Given the description of an element on the screen output the (x, y) to click on. 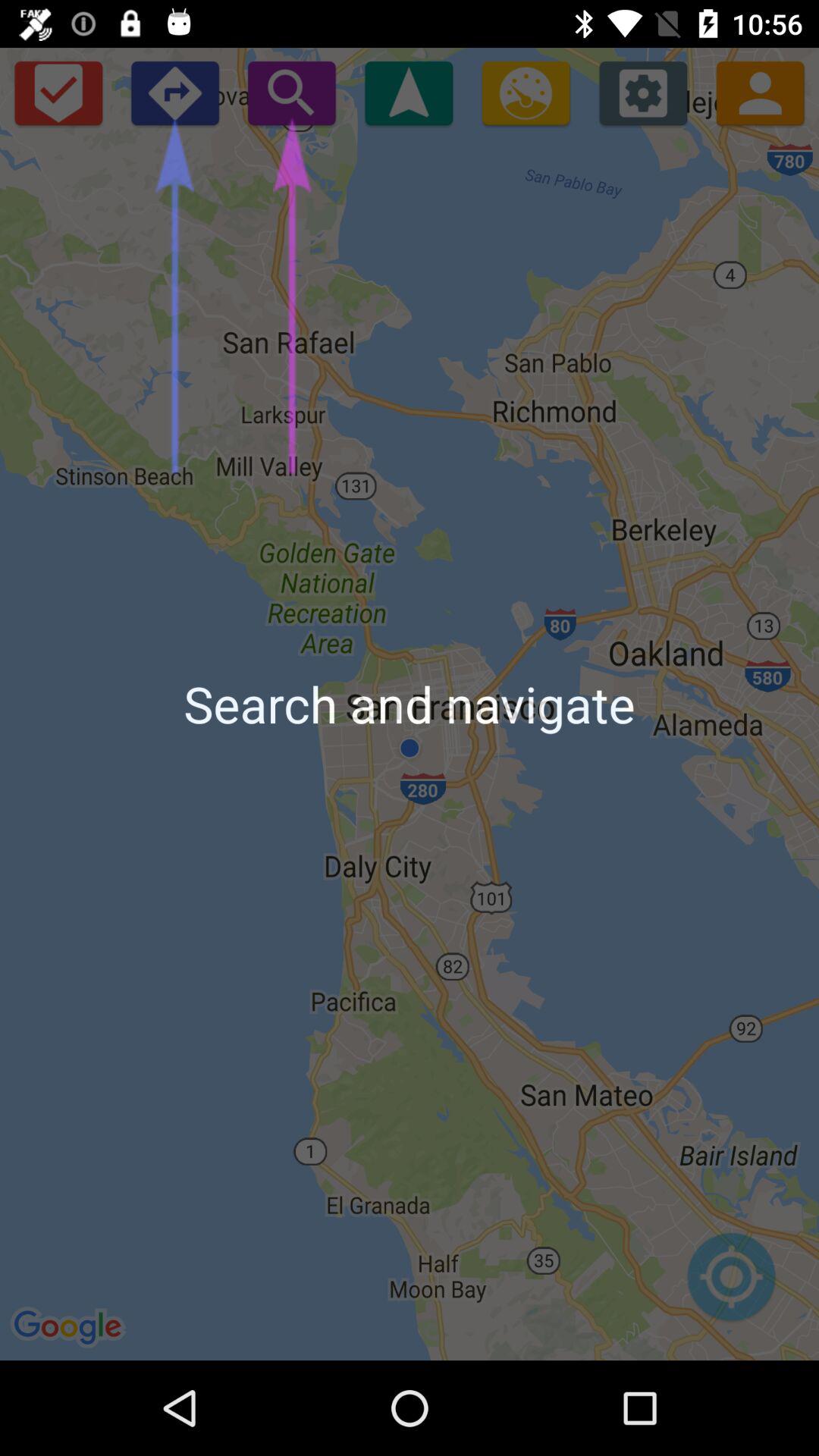
search location (731, 1284)
